Given the description of an element on the screen output the (x, y) to click on. 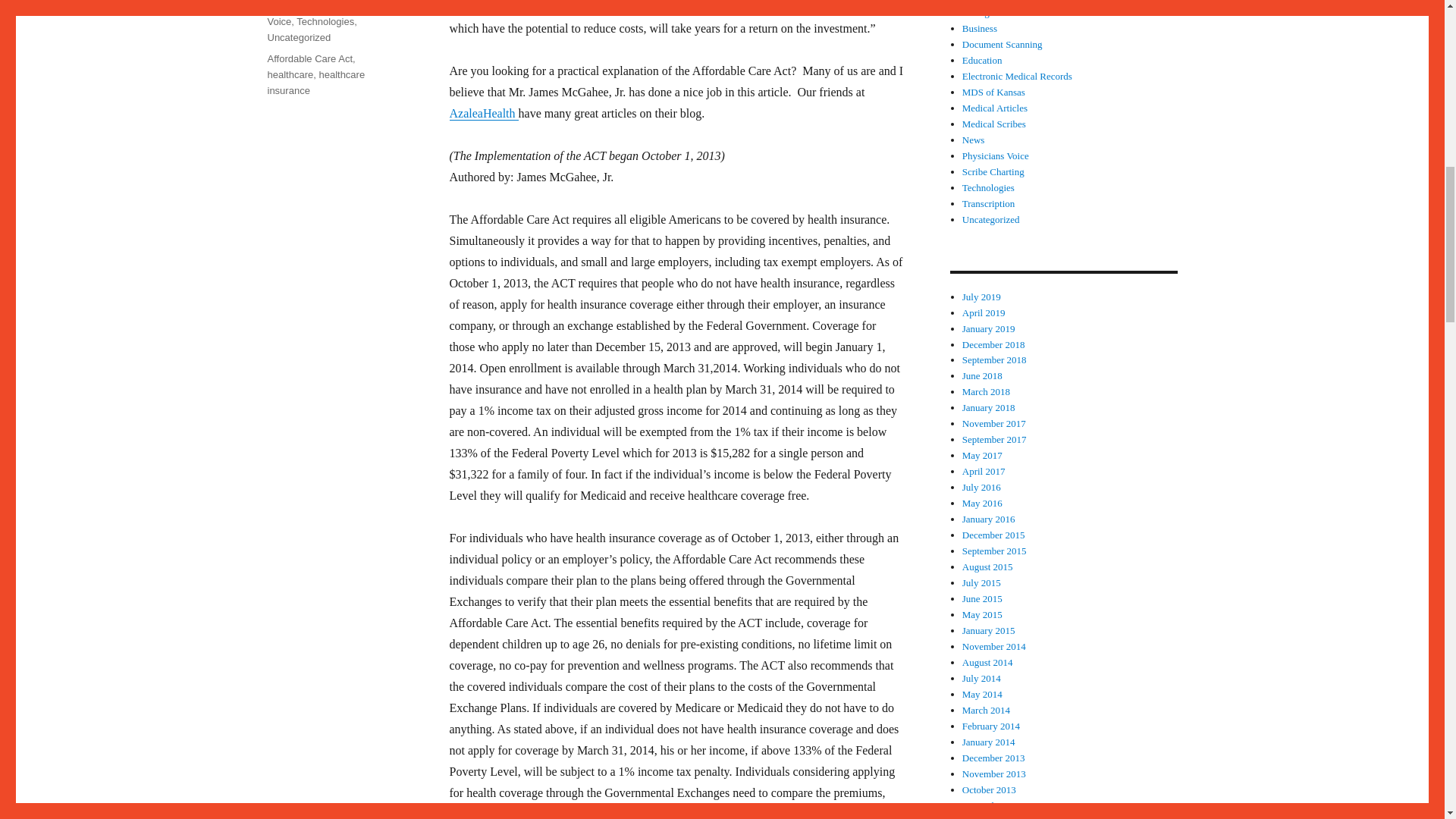
Technologies (325, 21)
Education (982, 60)
MDS of Kansas (300, 5)
healthcare insurance (315, 82)
AzaleaHealth (483, 113)
Electronic Medical Records (1016, 75)
Uncategorized (298, 37)
Affordable Care Act (309, 58)
Uncategorized (991, 219)
Technologies (988, 187)
